Given the description of an element on the screen output the (x, y) to click on. 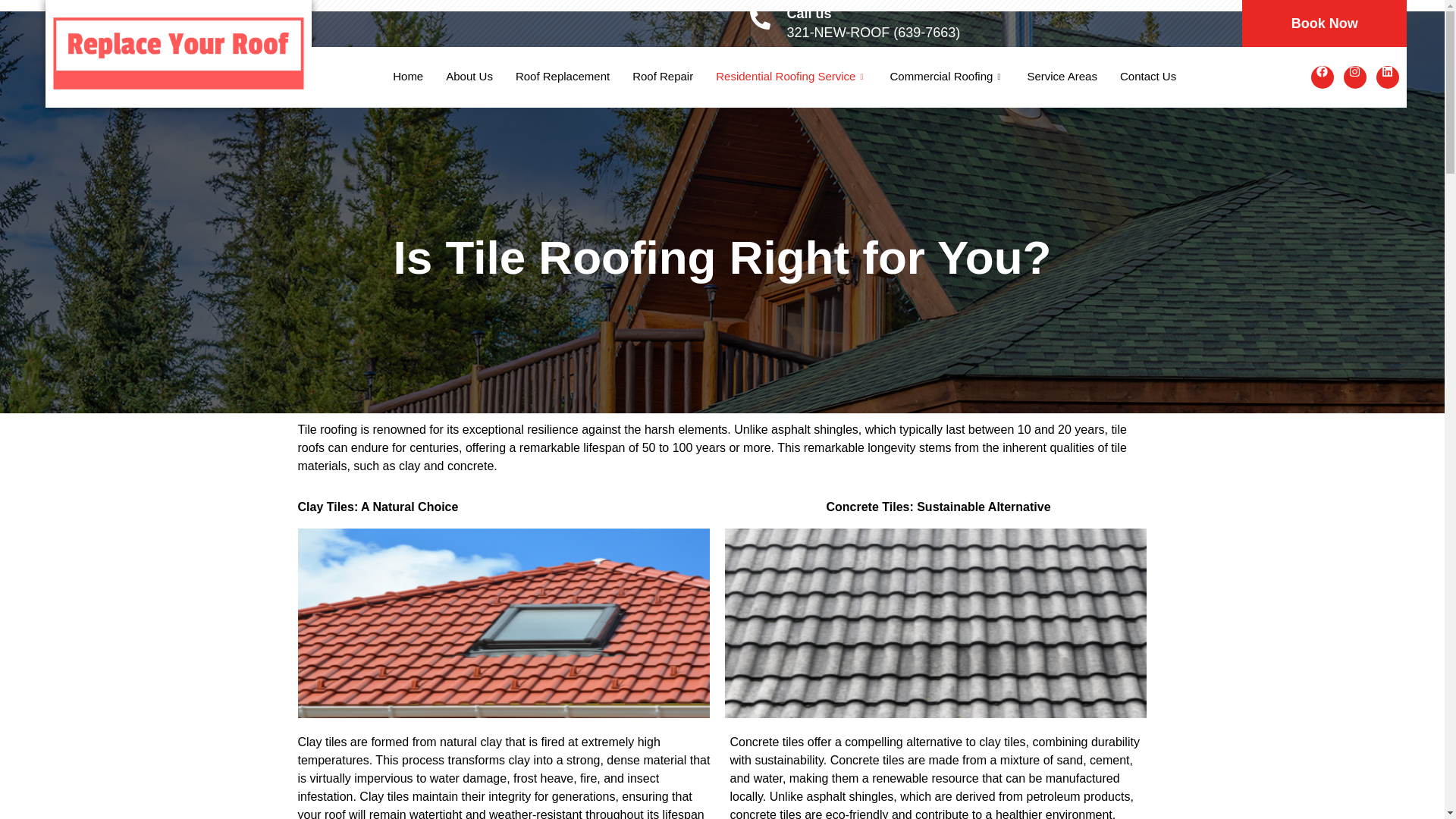
Service Areas (1061, 76)
Residential Roofing Service (790, 76)
Roof Replacement (562, 76)
Book Now (1323, 23)
Commercial Roofing (945, 76)
Roof Repair (662, 76)
Contact Us (1148, 76)
About Us (468, 76)
